Given the description of an element on the screen output the (x, y) to click on. 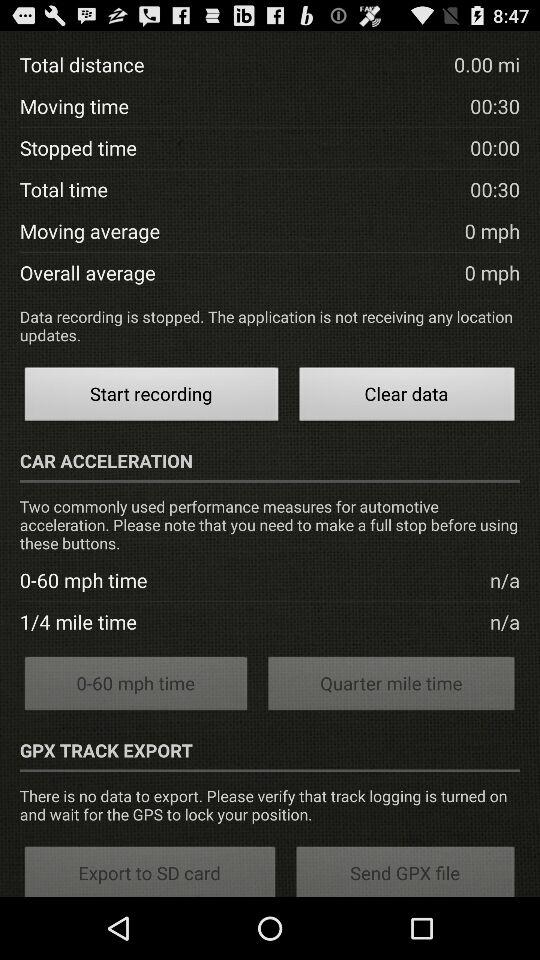
open the icon next to clear data (151, 396)
